Given the description of an element on the screen output the (x, y) to click on. 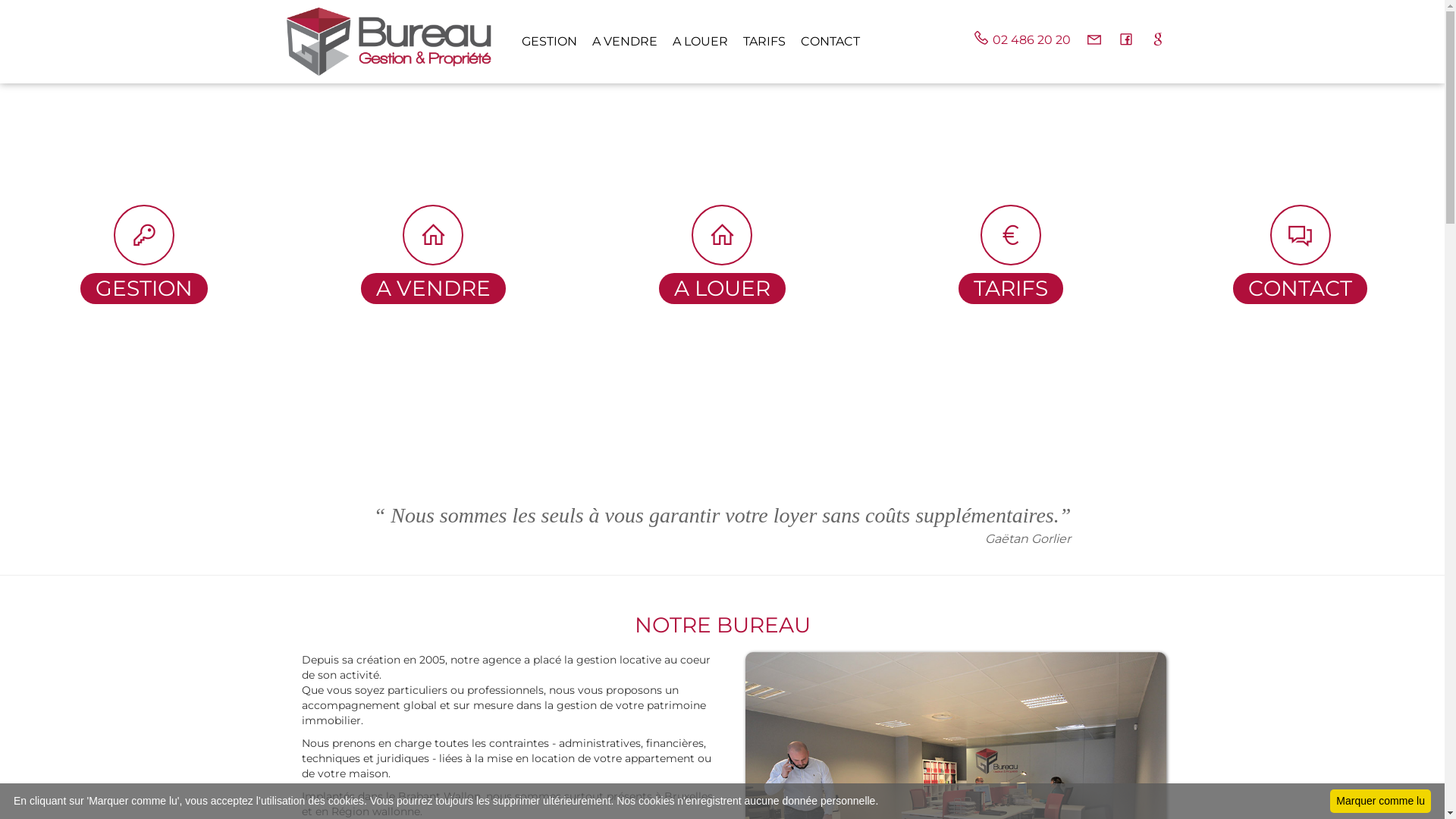
GESTION Element type: text (541, 41)
02 486 20 20 Element type: text (1013, 38)
TARIFS Element type: text (756, 41)
CONTACT Element type: text (822, 41)
A VENDRE Element type: text (616, 41)
A LOUER Element type: text (691, 41)
